Given the description of an element on the screen output the (x, y) to click on. 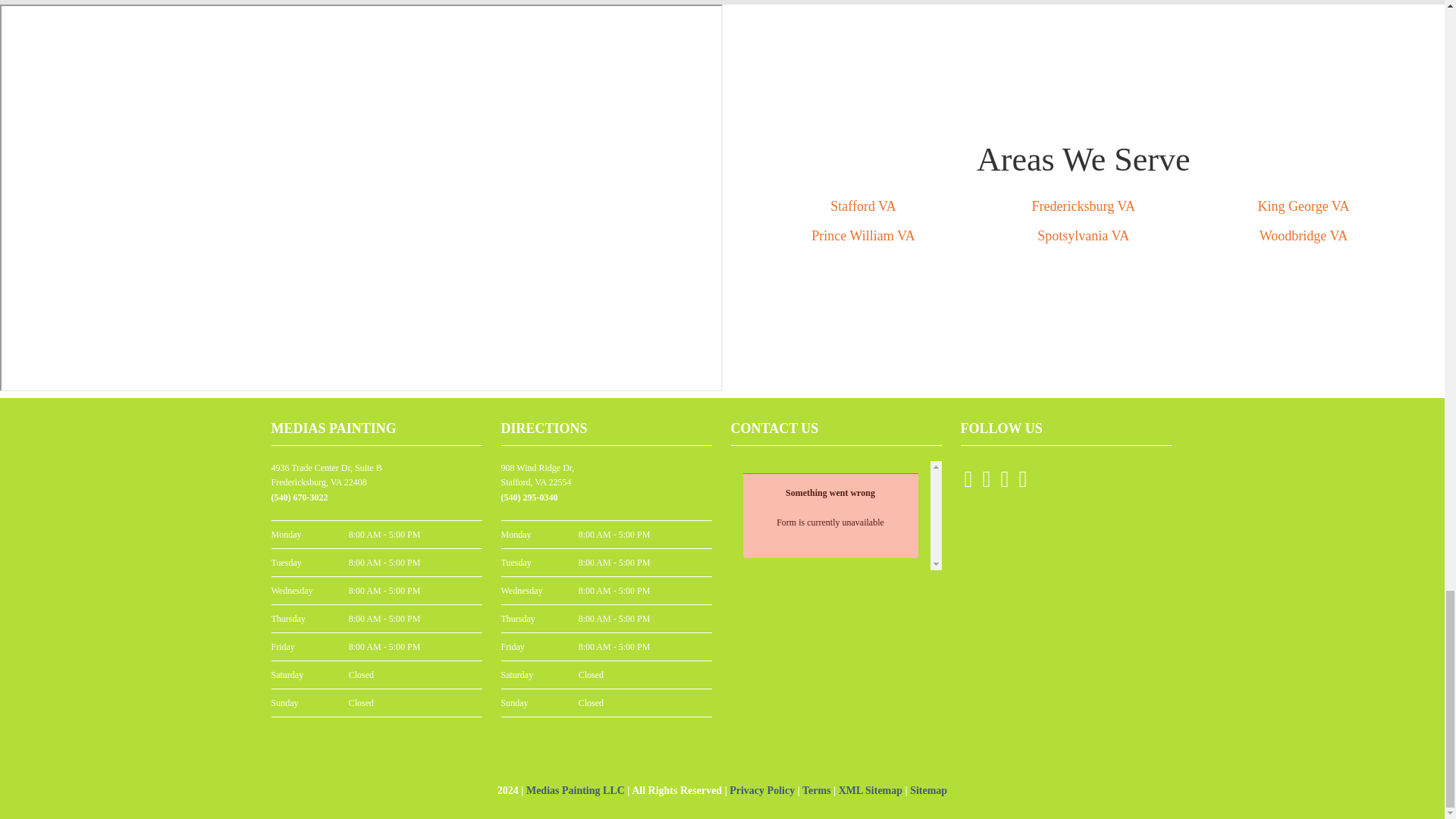
King George VA (1303, 206)
Prince William VA (862, 235)
Woodbridge VA (1303, 235)
Stafford VA (862, 206)
Fredericksburg VA (1082, 206)
Spotsylvania VA (1082, 235)
